Given the description of an element on the screen output the (x, y) to click on. 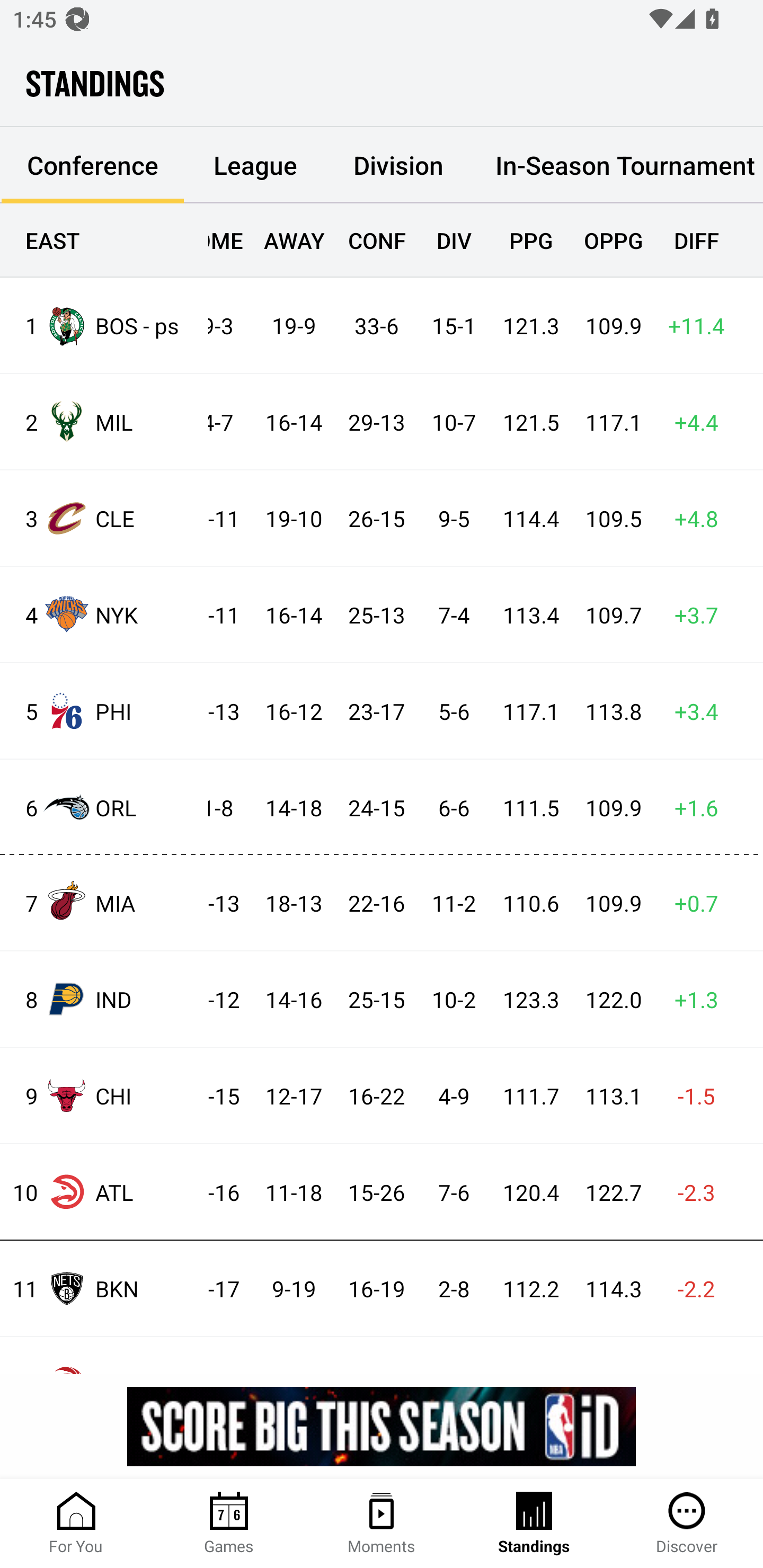
League (254, 165)
Division (398, 165)
In-Season Tournament (616, 165)
1 BOS - ps (104, 325)
2 MIL (104, 421)
3 CLE (104, 518)
4 NYK (104, 613)
5 PHI (104, 710)
6 ORL (104, 806)
7 MIA (104, 902)
8 IND (104, 999)
9 CHI (104, 1095)
10 ATL (104, 1192)
11 BKN (104, 1287)
For You (76, 1523)
Games (228, 1523)
Moments (381, 1523)
Discover (686, 1523)
